Given the description of an element on the screen output the (x, y) to click on. 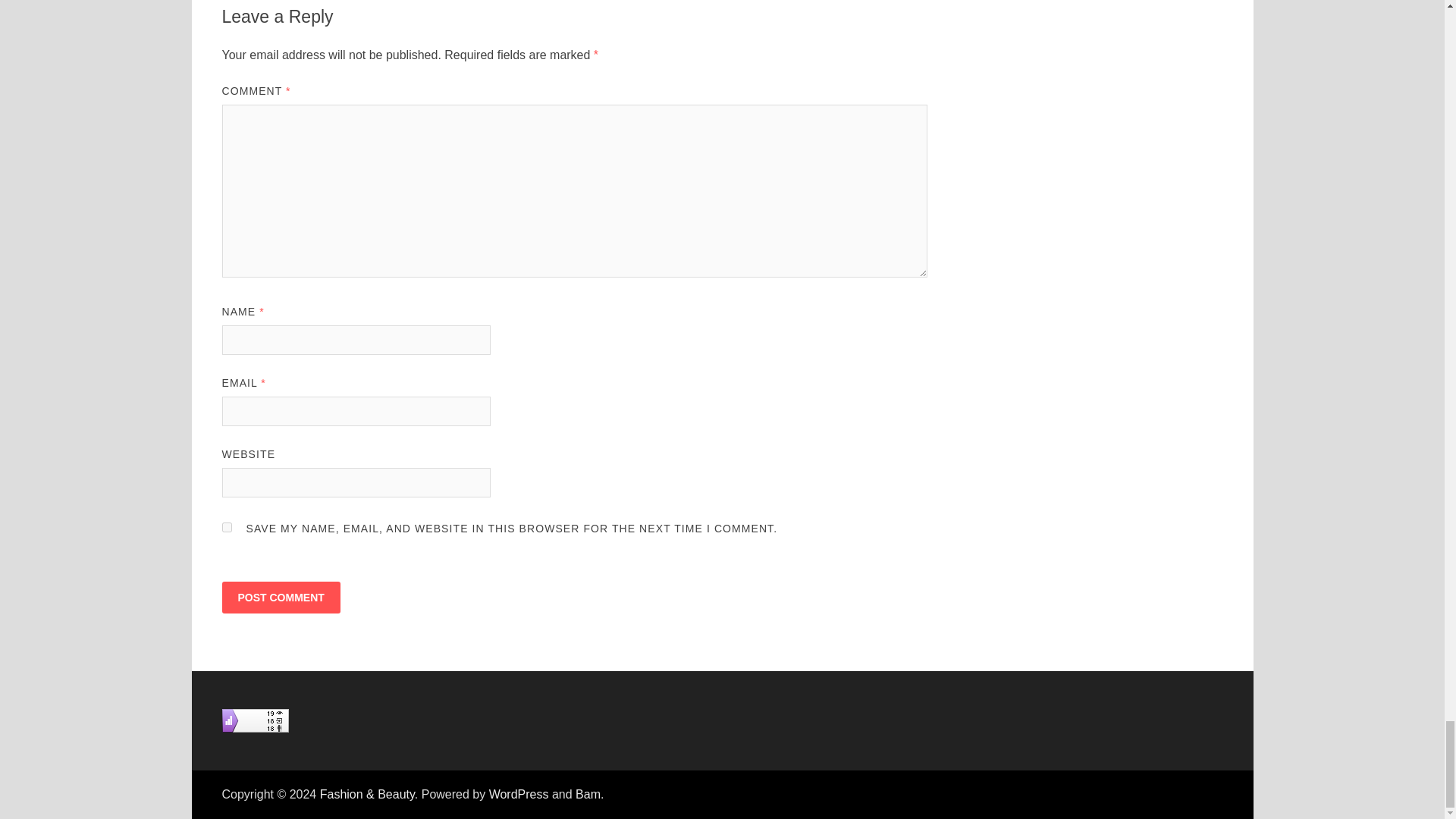
Bam (587, 793)
Post Comment (280, 597)
yes (226, 527)
WordPress (518, 793)
Post Comment (280, 597)
